Given the description of an element on the screen output the (x, y) to click on. 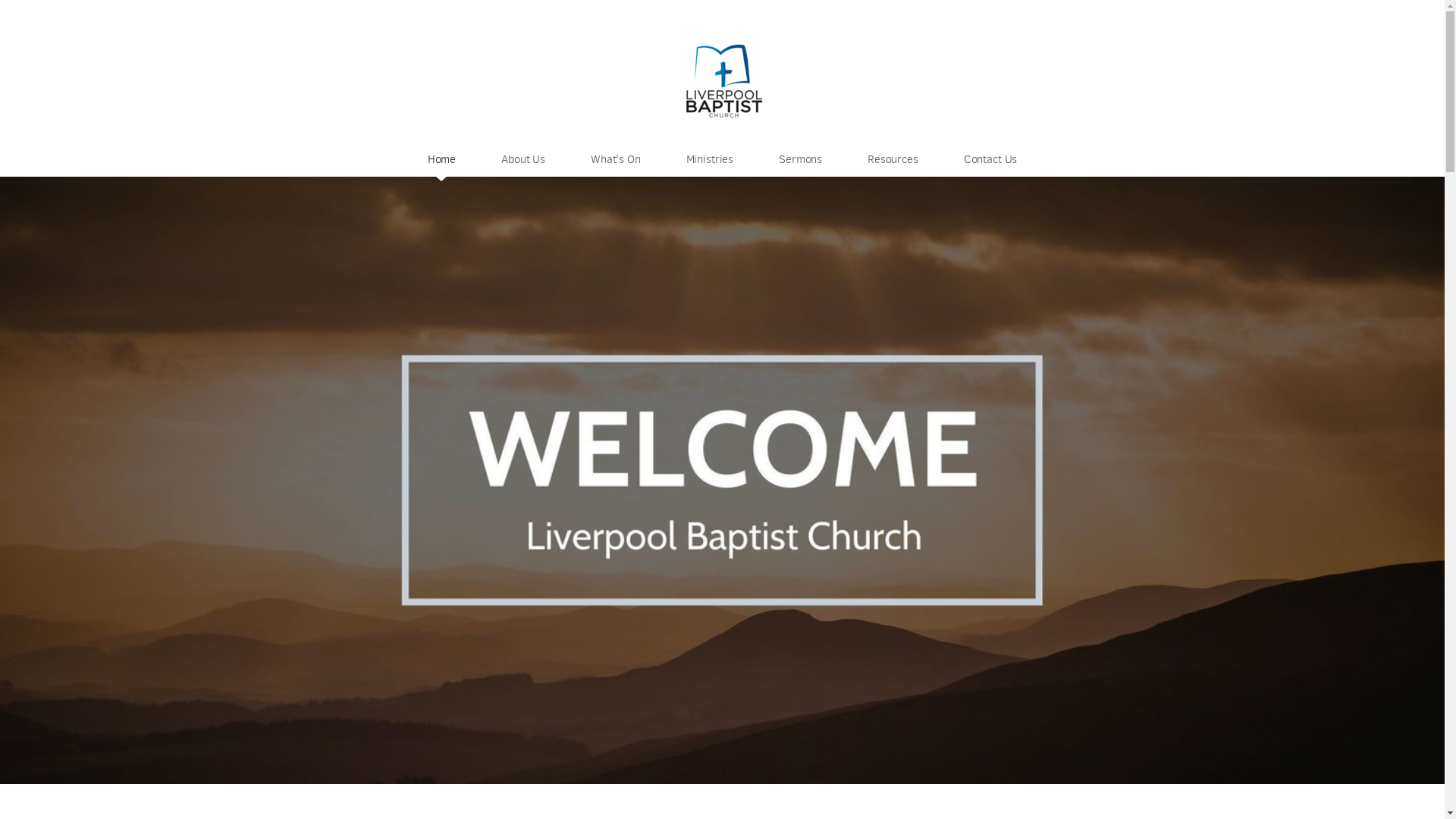
Contact Us Element type: text (990, 158)
Ministries Element type: text (710, 158)
About Us Element type: text (523, 158)
Home Element type: text (441, 158)
Resources Element type: text (892, 158)
What's On Element type: text (615, 158)
Sermons Element type: text (800, 158)
